Given the description of an element on the screen output the (x, y) to click on. 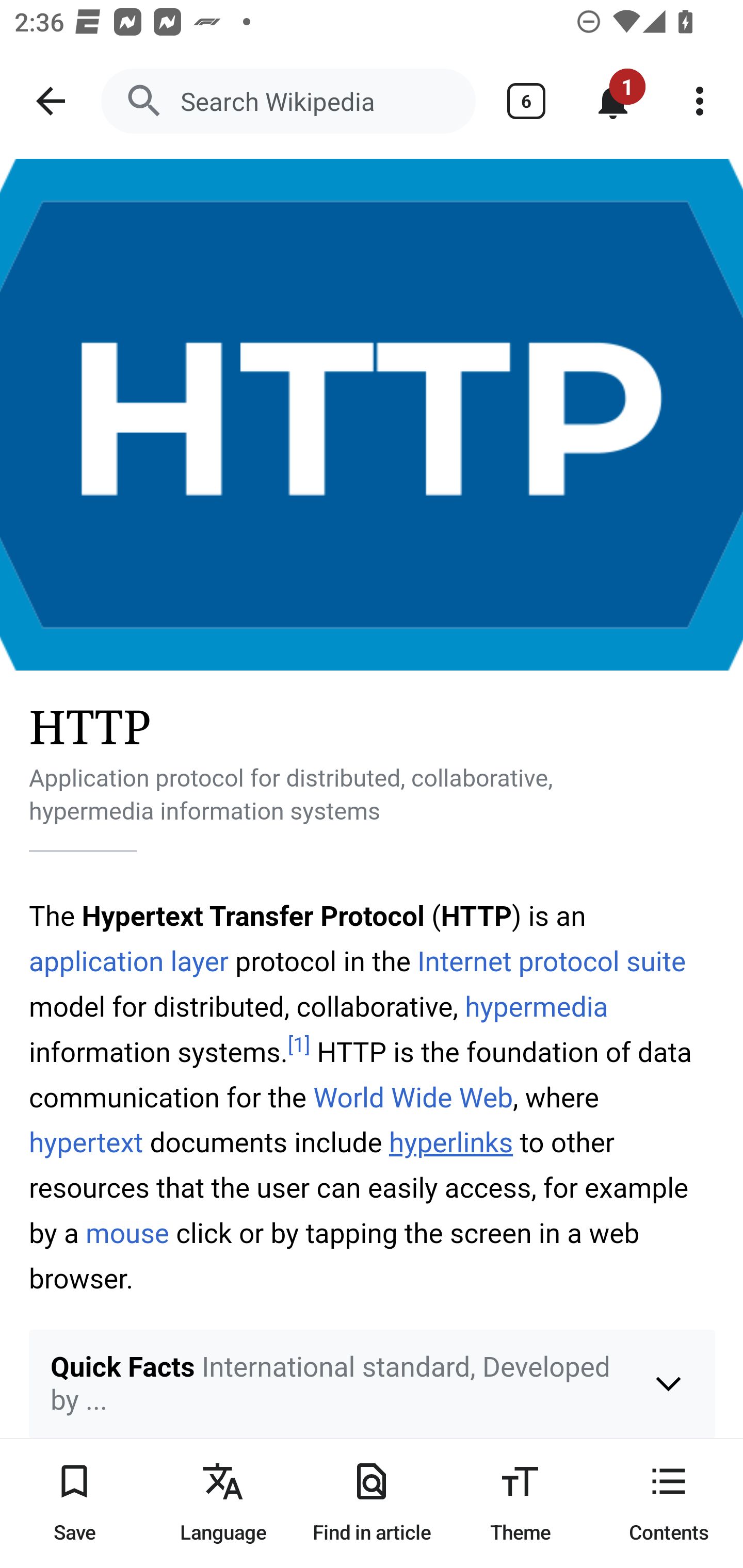
Show tabs 6 (525, 100)
Notifications 1 (612, 100)
Navigate up (50, 101)
More options (699, 101)
Search Wikipedia (288, 100)
Image: HTTP (371, 414)
application layer (128, 961)
Internet protocol suite (552, 961)
hypermedia (535, 1007)
[] [ 1 ] (299, 1045)
World Wide Web (413, 1098)
hypertext (86, 1142)
hyperlinks (450, 1142)
mouse (127, 1233)
Save (74, 1502)
Language (222, 1502)
Find in article (371, 1502)
Theme (519, 1502)
Contents (668, 1502)
